Given the description of an element on the screen output the (x, y) to click on. 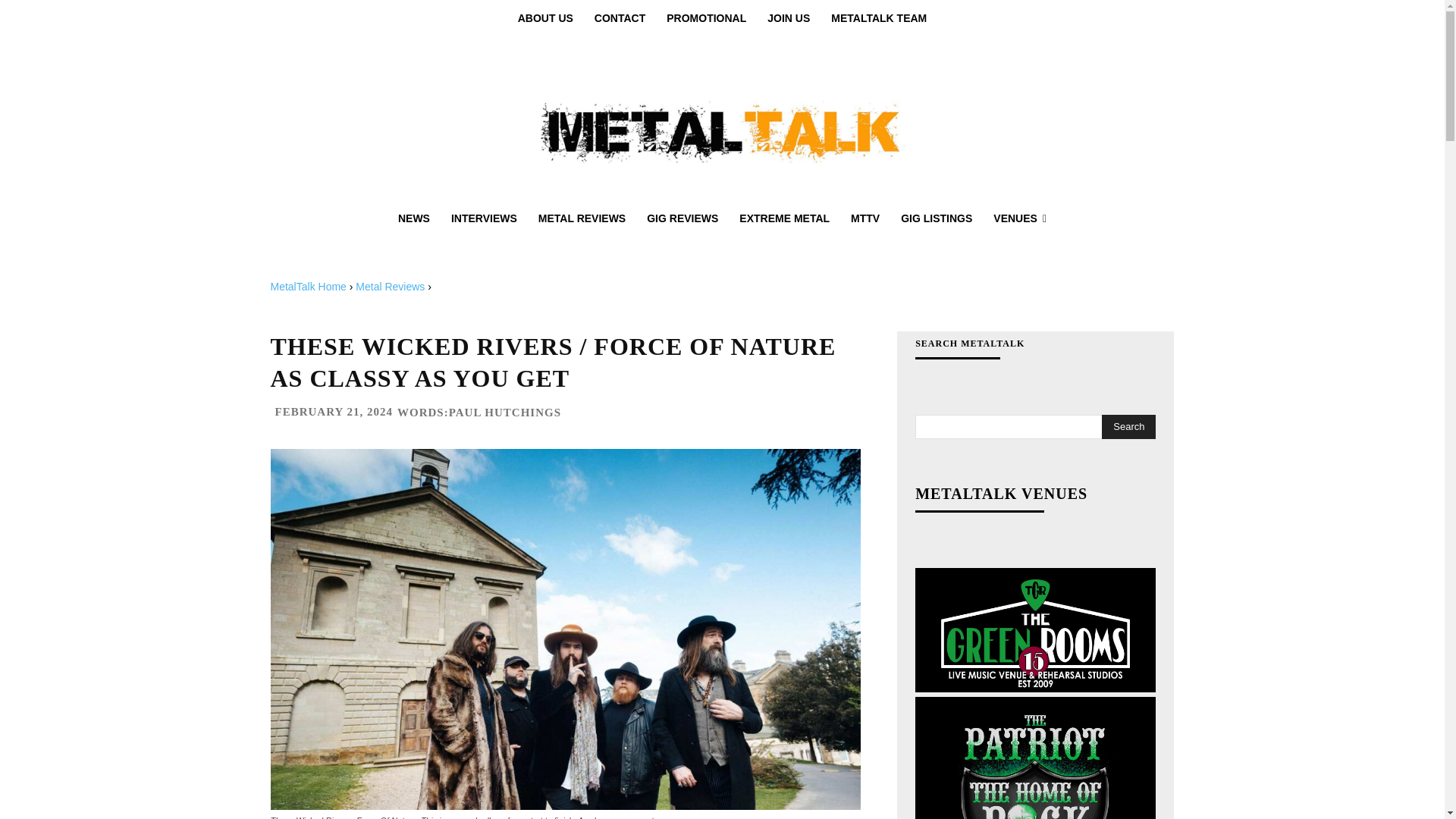
CONTACT (619, 18)
INTERVIEWS (484, 217)
VENUES (1019, 217)
ABOUT US (544, 18)
JOIN US (789, 18)
METALTALK TEAM (879, 18)
METAL REVIEWS (581, 217)
EXTREME METAL (784, 217)
MTTV (864, 217)
MetalTalk Home (307, 286)
